Given the description of an element on the screen output the (x, y) to click on. 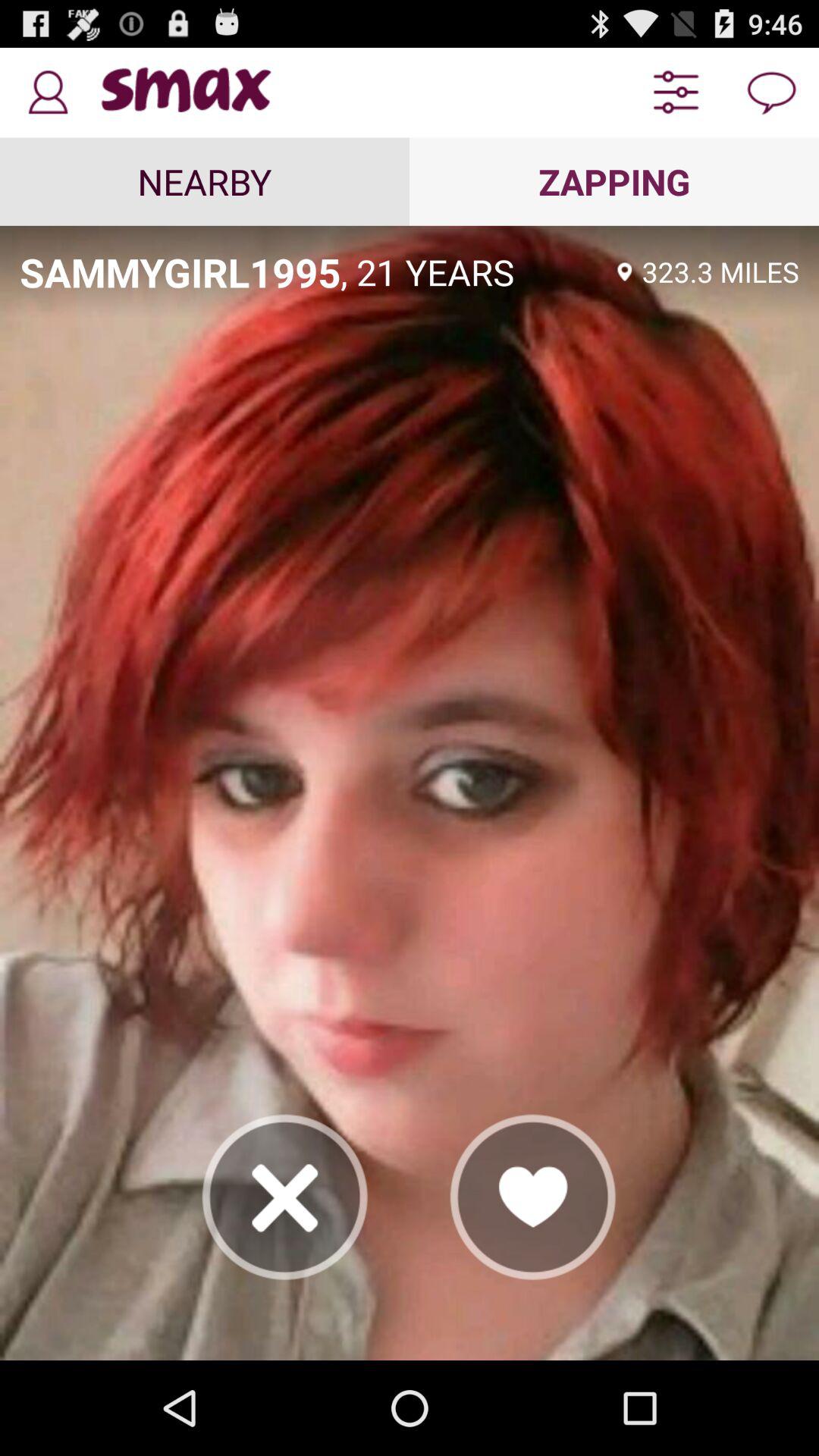
scroll until , 21 years item (473, 271)
